Given the description of an element on the screen output the (x, y) to click on. 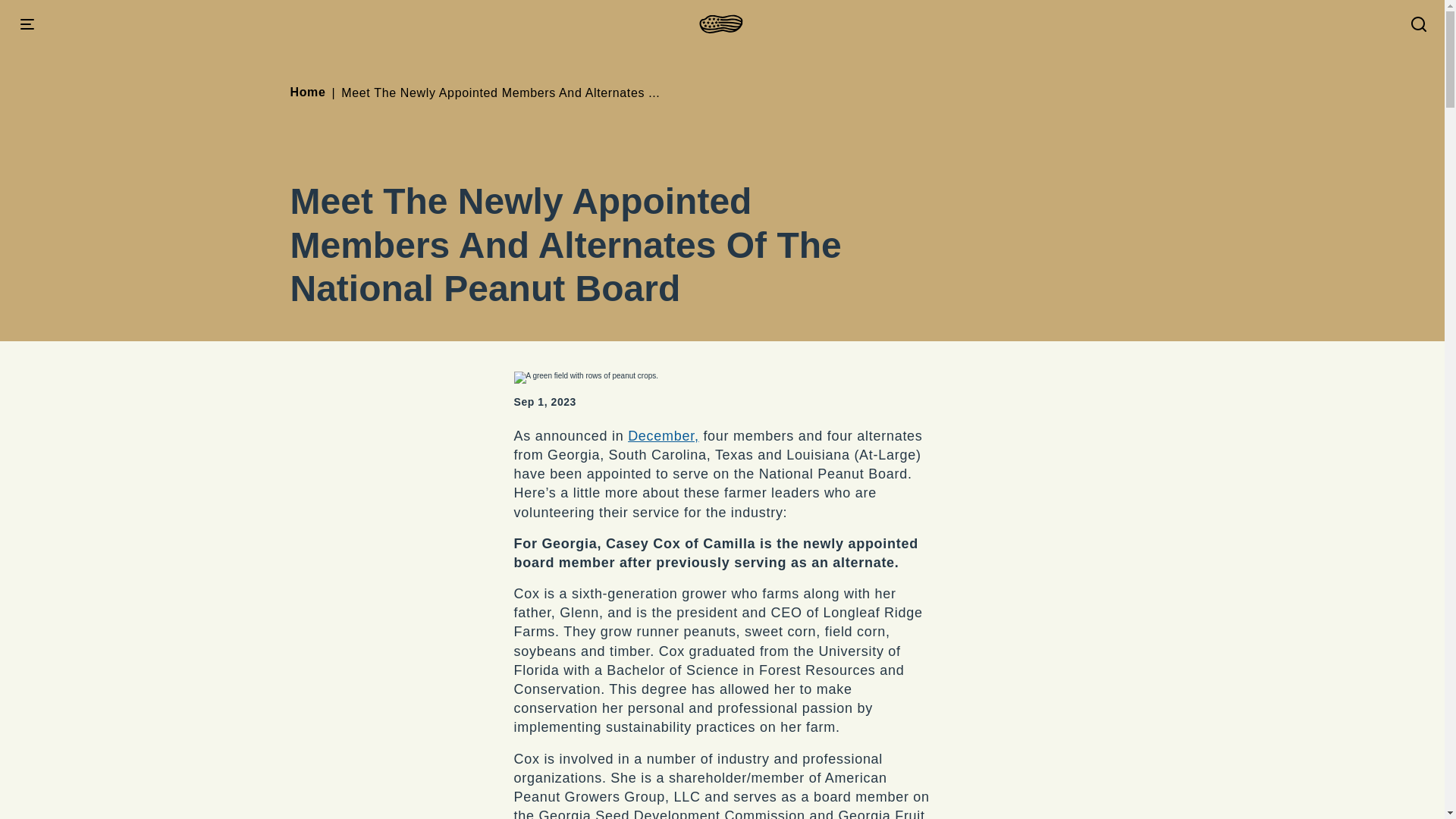
Home (306, 92)
Open menu (26, 24)
December, (662, 435)
